Given the description of an element on the screen output the (x, y) to click on. 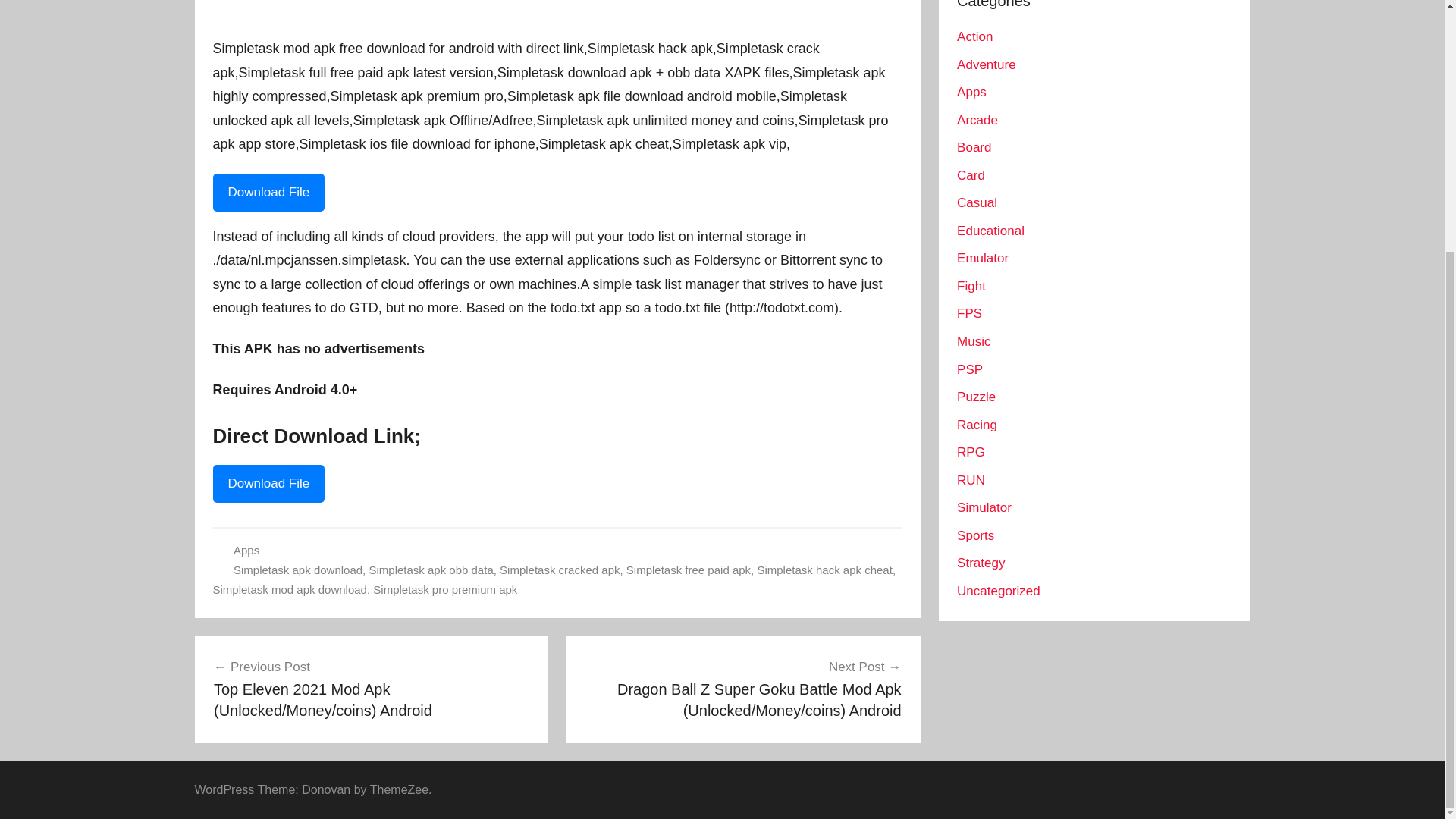
Download File (268, 191)
Simpletask cracked apk (559, 569)
Download File (268, 482)
Simpletask apk download (297, 569)
Apps (245, 549)
Download File (268, 483)
Simpletask apk obb data (430, 569)
Download File (268, 192)
